Given the description of an element on the screen output the (x, y) to click on. 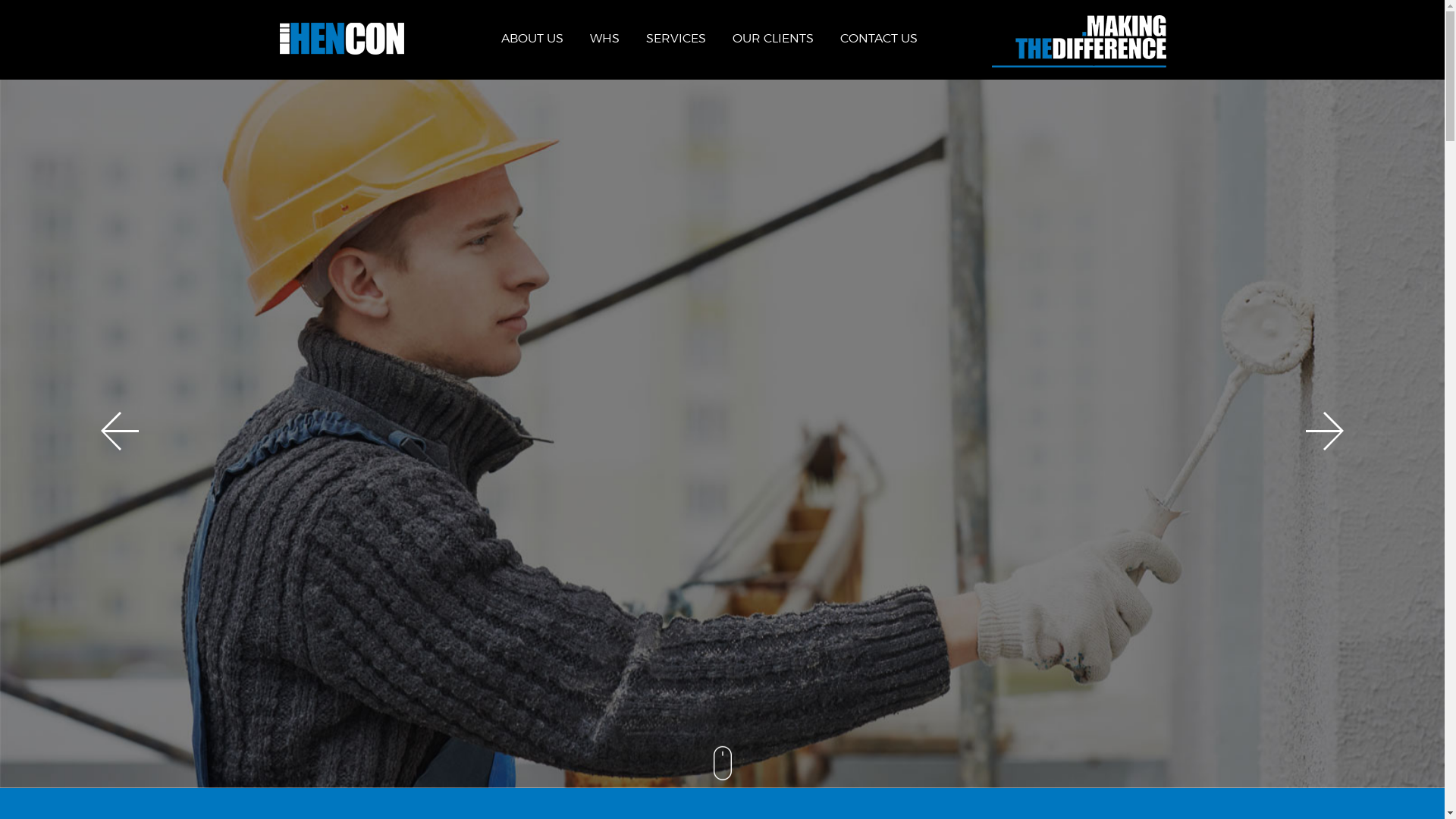
SERVICES Element type: text (676, 38)
WHS Element type: text (604, 38)
NEXT Element type: text (1324, 430)
ABOUT US Element type: text (531, 38)
PREVIOUS Element type: text (119, 430)
CONTACT US Element type: text (878, 38)
OUR CLIENTS Element type: text (772, 38)
